Given the description of an element on the screen output the (x, y) to click on. 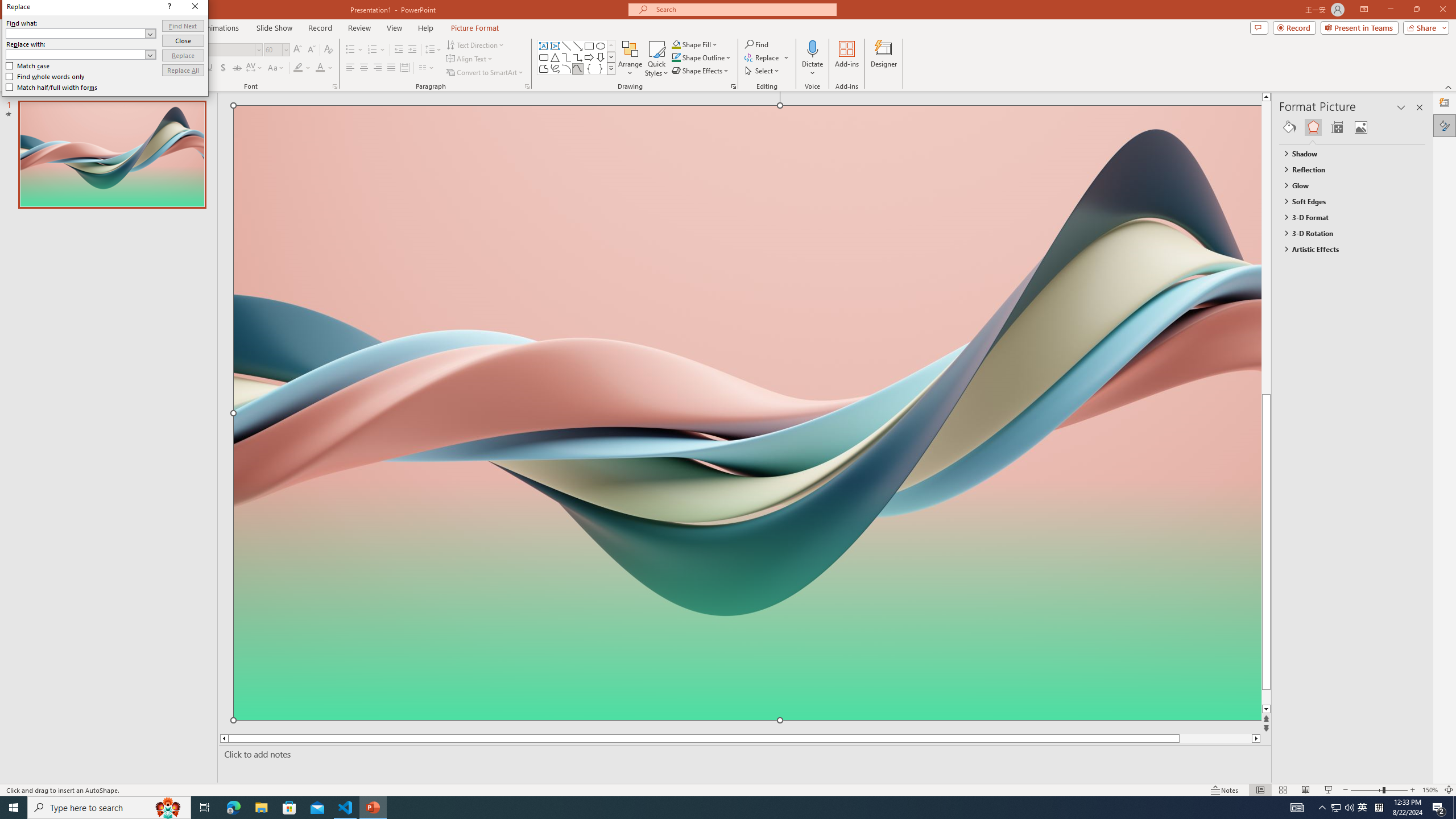
Replace (183, 55)
Find what (80, 33)
Size & Properties (1336, 126)
Class: NetUIScrollBar (1420, 460)
